Given the description of an element on the screen output the (x, y) to click on. 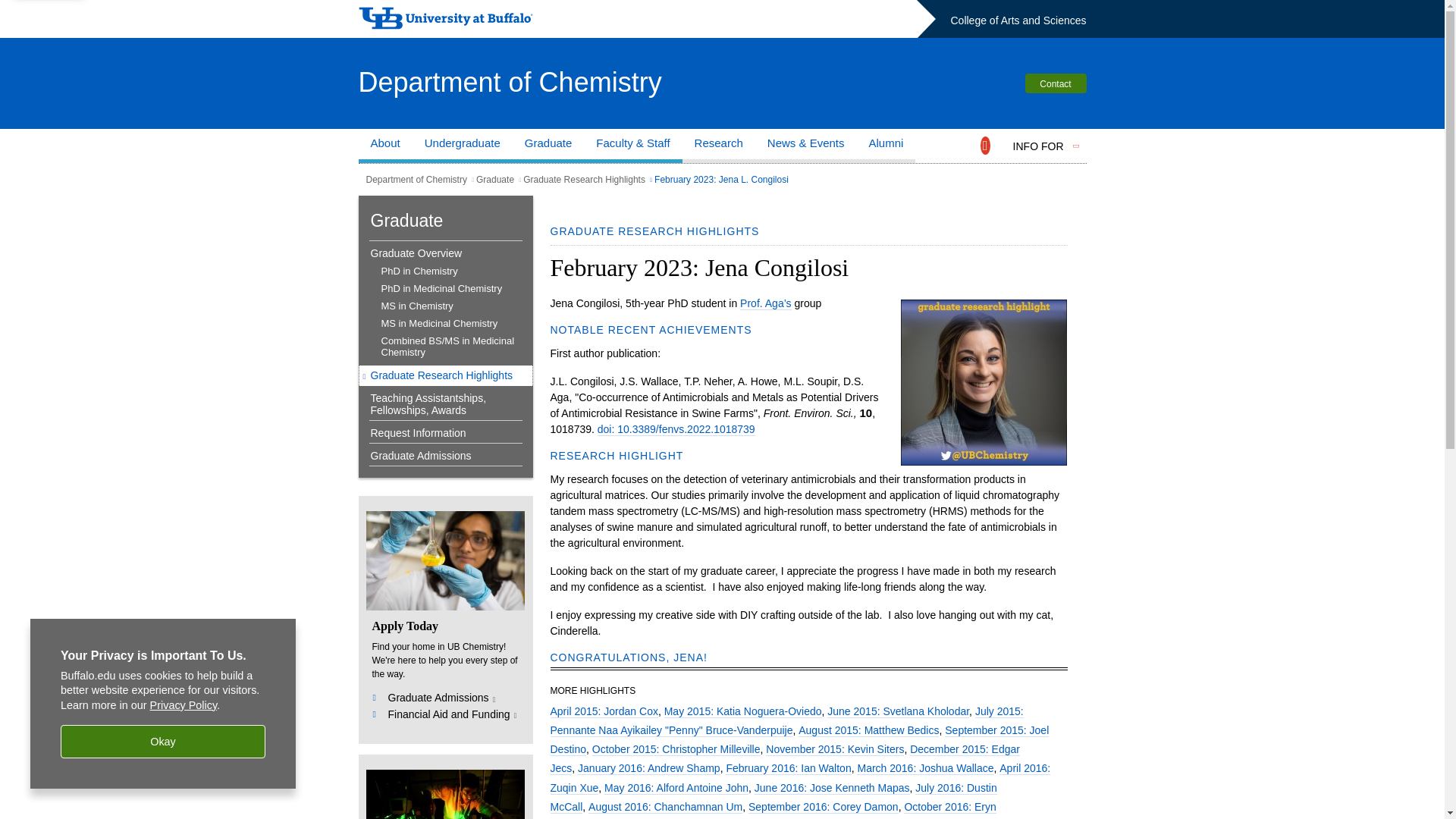
About (385, 145)
Department of Chemistry (509, 81)
Undergraduate (462, 145)
Graduate (548, 145)
College of Arts and Sciences (1018, 19)
Contact (1055, 83)
This link opens a page in a new window or tab. (442, 698)
This link opens a page in a new window or tab. (452, 715)
